Given the description of an element on the screen output the (x, y) to click on. 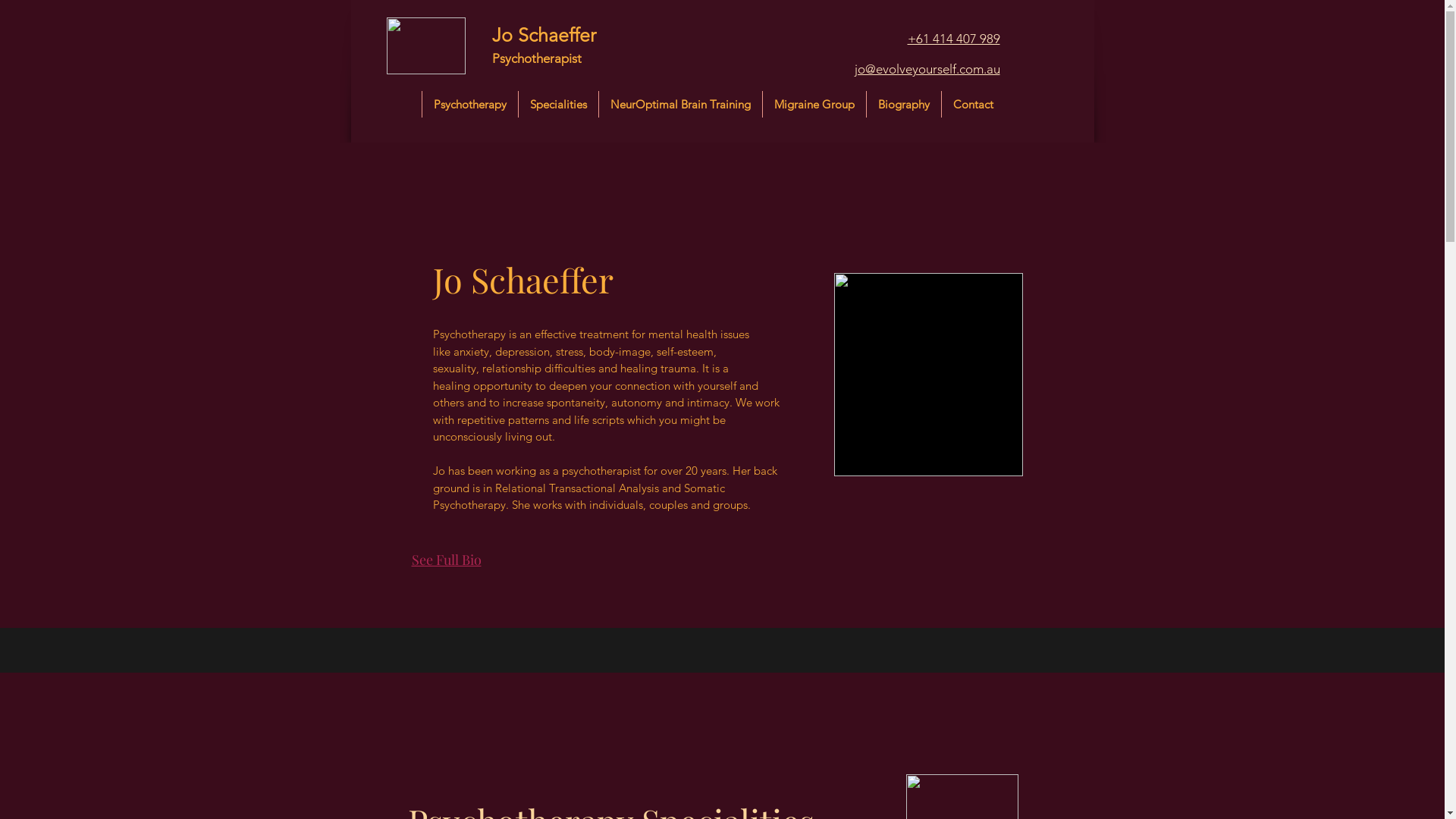
Biography Element type: text (903, 104)
+61 414 407 989 Element type: text (952, 38)
Contact Element type: text (972, 104)
See Full Bio Element type: text (445, 559)
jo@evolveyourself.com.au Element type: text (926, 68)
Psychotherapy Element type: text (469, 104)
Jo Schaeffer Element type: text (543, 34)
Migraine Group Element type: text (814, 104)
NeurOptimal Brain Training Element type: text (680, 104)
Specialities Element type: text (557, 104)
